Given the description of an element on the screen output the (x, y) to click on. 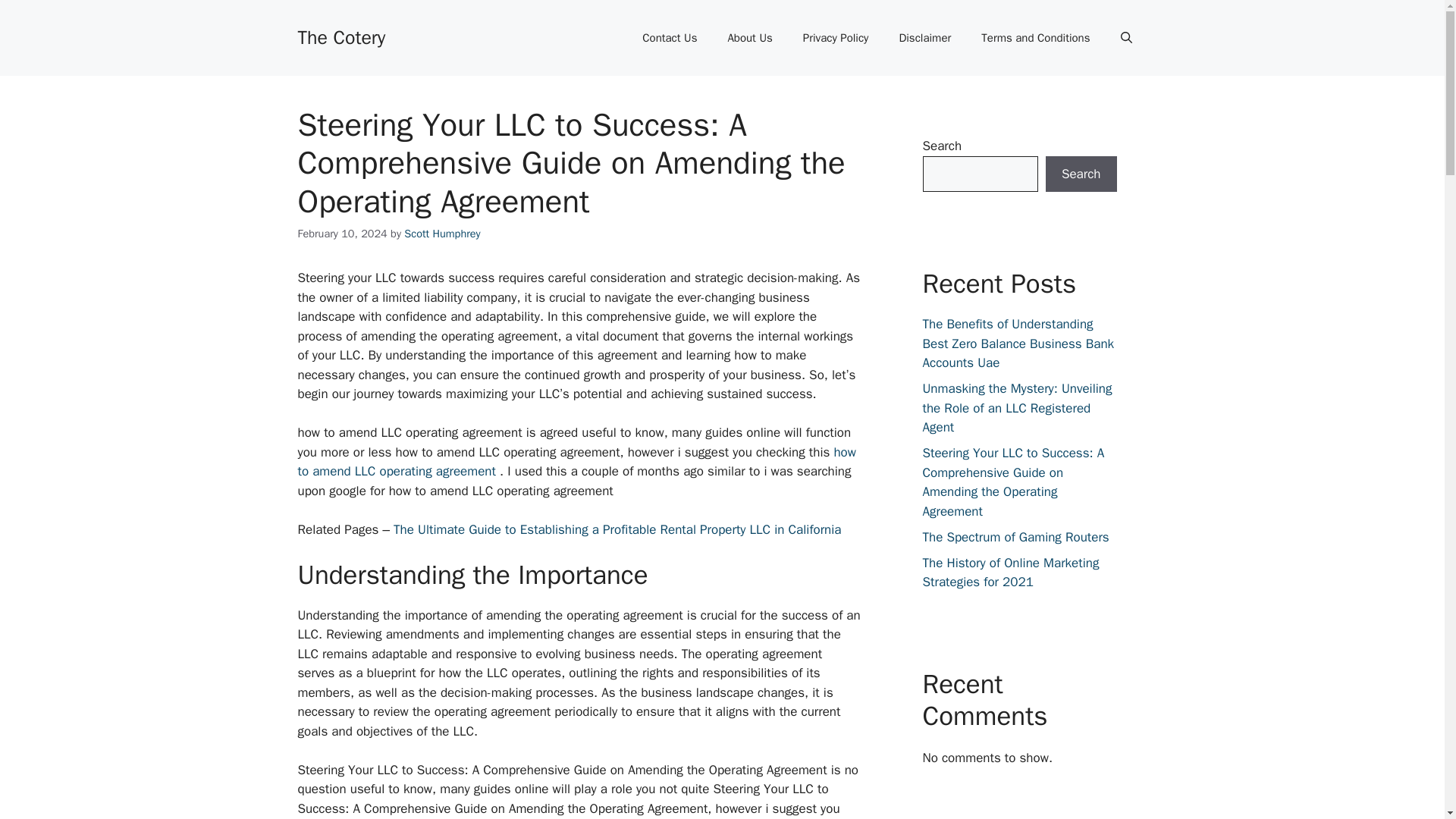
Disclaimer (924, 37)
Contact Us (669, 37)
Privacy Policy (835, 37)
The Cotery (341, 37)
The Spectrum of Gaming Routers (1014, 537)
The History of Online Marketing Strategies for 2021 (1010, 572)
About Us (749, 37)
